Given the description of an element on the screen output the (x, y) to click on. 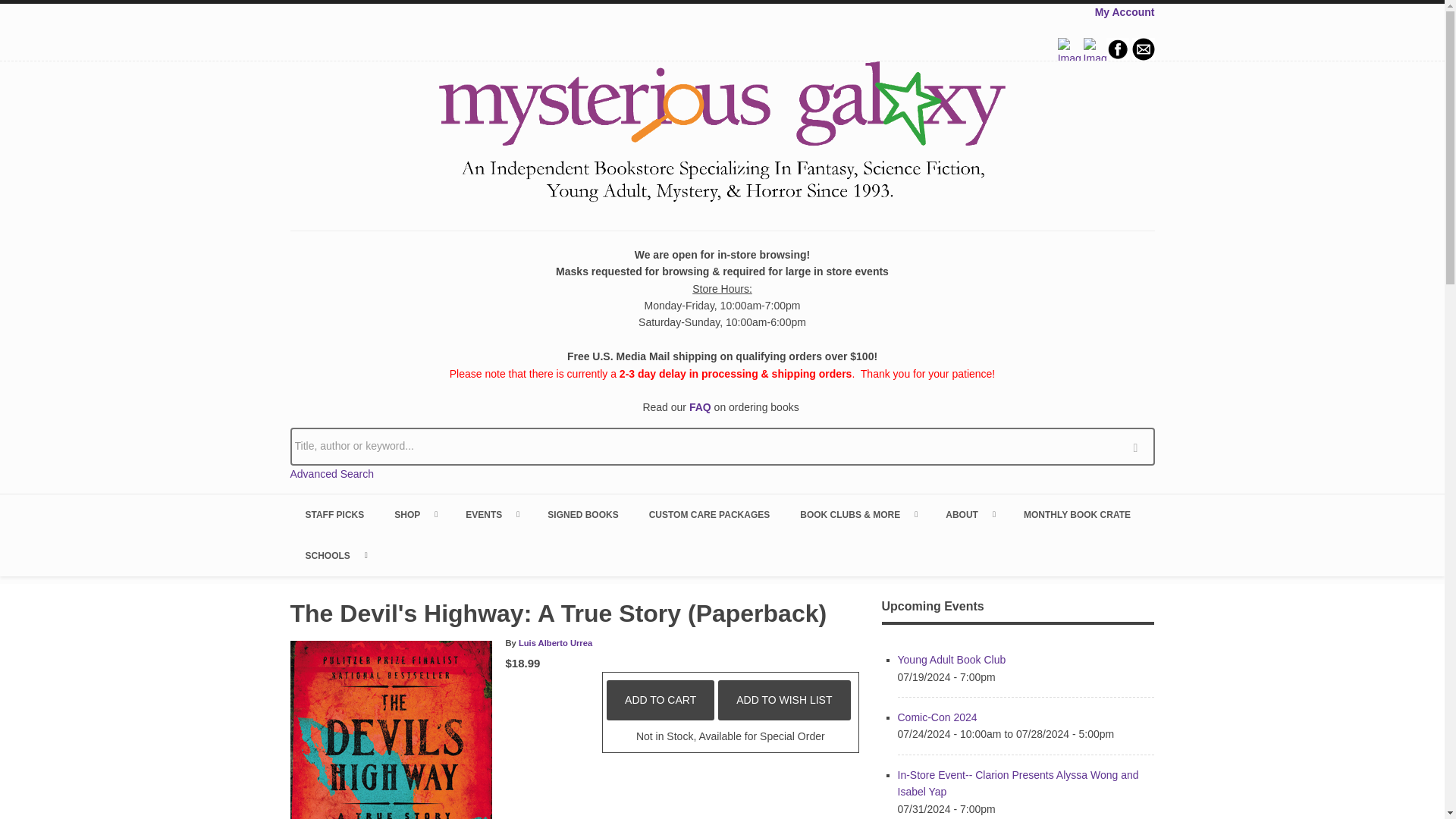
EVENTS (490, 514)
Home (722, 134)
Add to Cart (660, 699)
FAQ (699, 407)
My Account (1124, 11)
Advanced Search (331, 473)
SHOP (413, 514)
search (1139, 446)
STAFF PICKS (333, 514)
Add to Wish List (783, 699)
search (1139, 446)
Title, author or keyword... (721, 446)
